Given the description of an element on the screen output the (x, y) to click on. 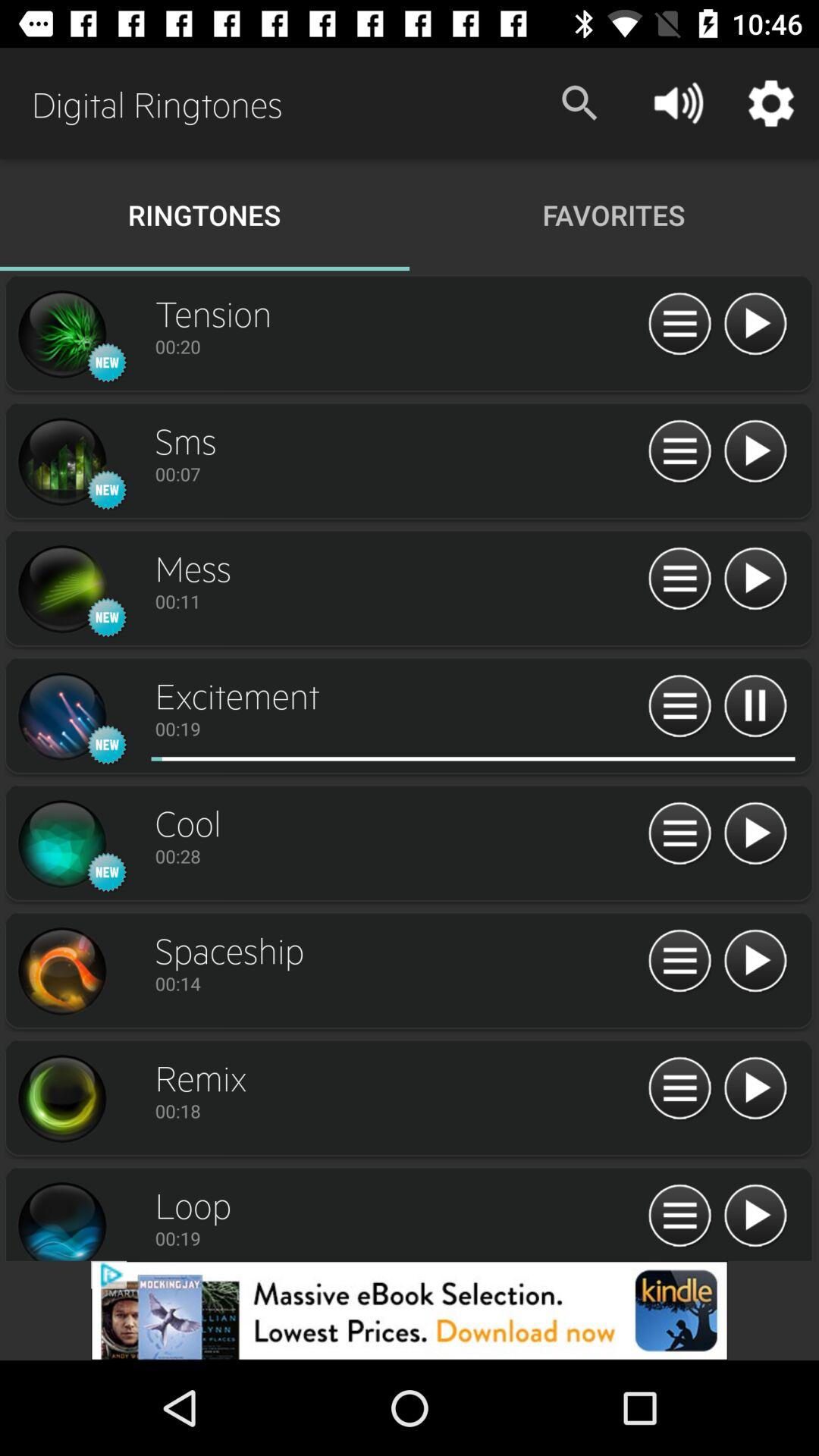
open ringtone details (61, 1099)
